Given the description of an element on the screen output the (x, y) to click on. 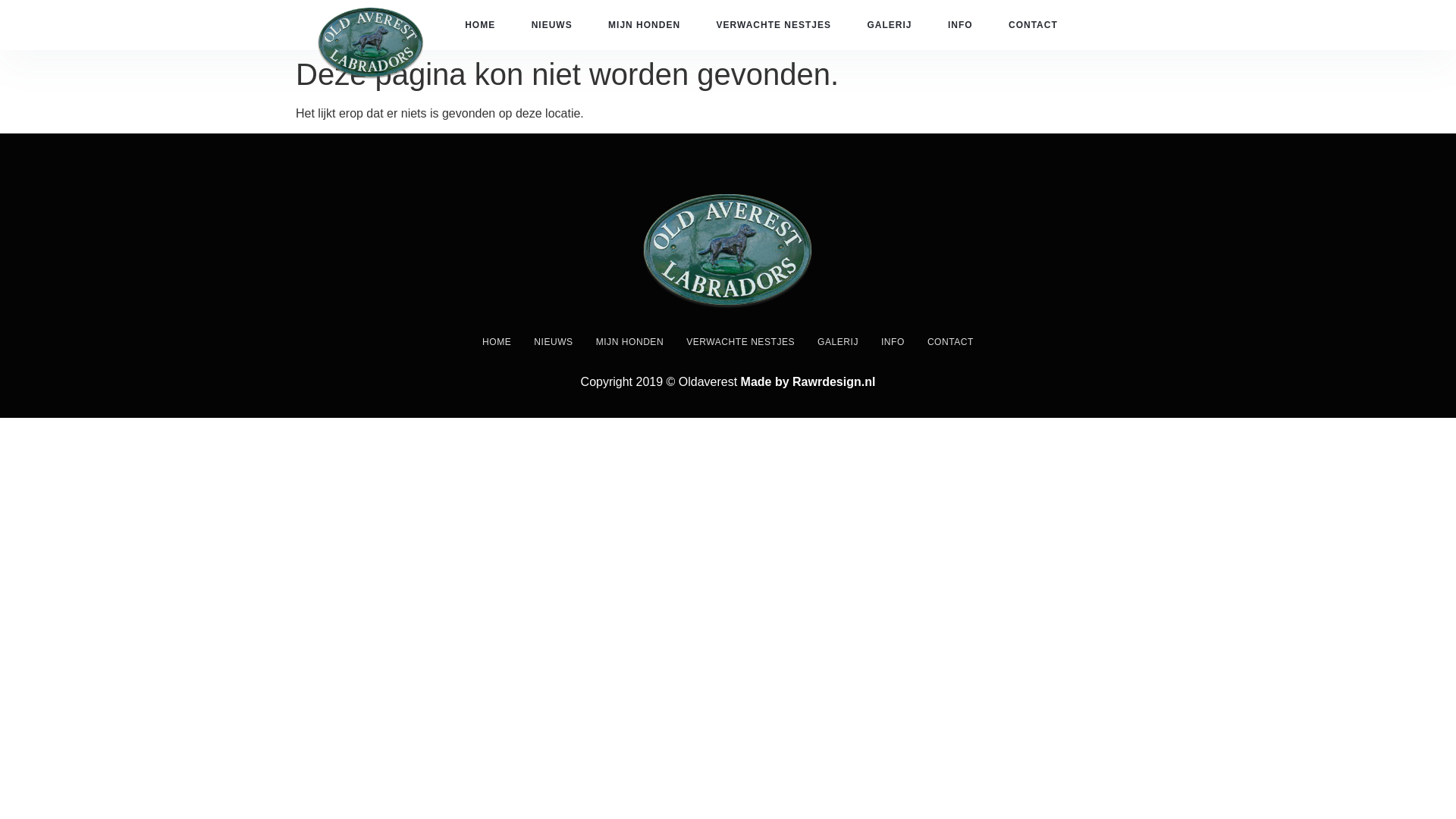
MIJN HONDEN (629, 341)
HOME (479, 24)
German (1145, 14)
NIEUWS (551, 24)
VERWACHTE NESTJES (739, 341)
MIJN HONDEN (643, 24)
Dutch (1115, 14)
English (1130, 14)
NIEUWS (553, 341)
VERWACHTE NESTJES (773, 24)
